Given the description of an element on the screen output the (x, y) to click on. 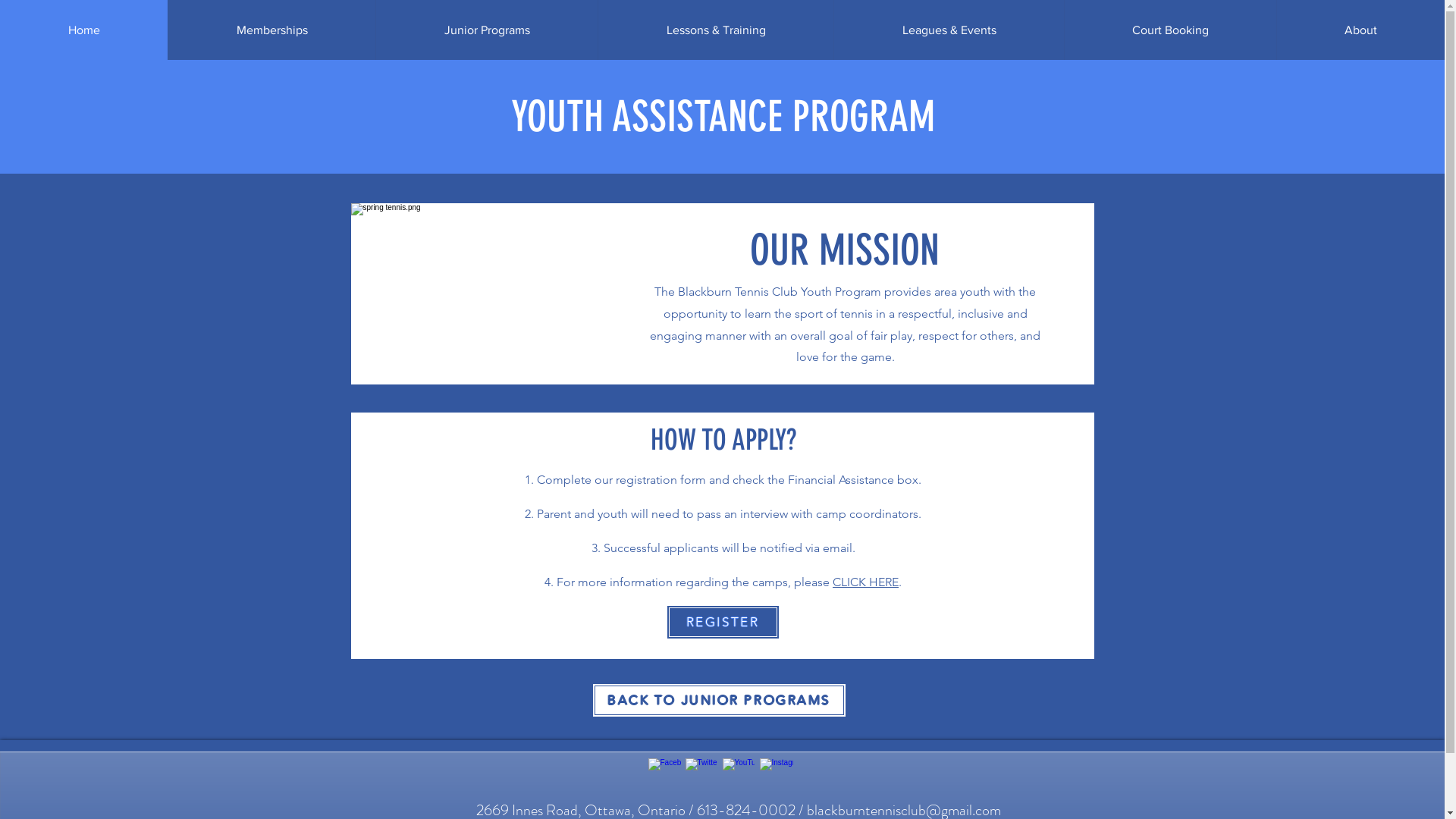
CLICK HERE Element type: text (865, 581)
Court Booking Element type: text (1169, 29)
Home Element type: text (83, 29)
Lessons & Training Element type: text (715, 29)
Junior Programs Element type: text (486, 29)
BACK TO JUNIOR PROGRAMS Element type: text (718, 700)
REGISTER Element type: text (721, 622)
Leagues & Events Element type: text (948, 29)
About Element type: text (1360, 29)
Memberships Element type: text (271, 29)
